Given the description of an element on the screen output the (x, y) to click on. 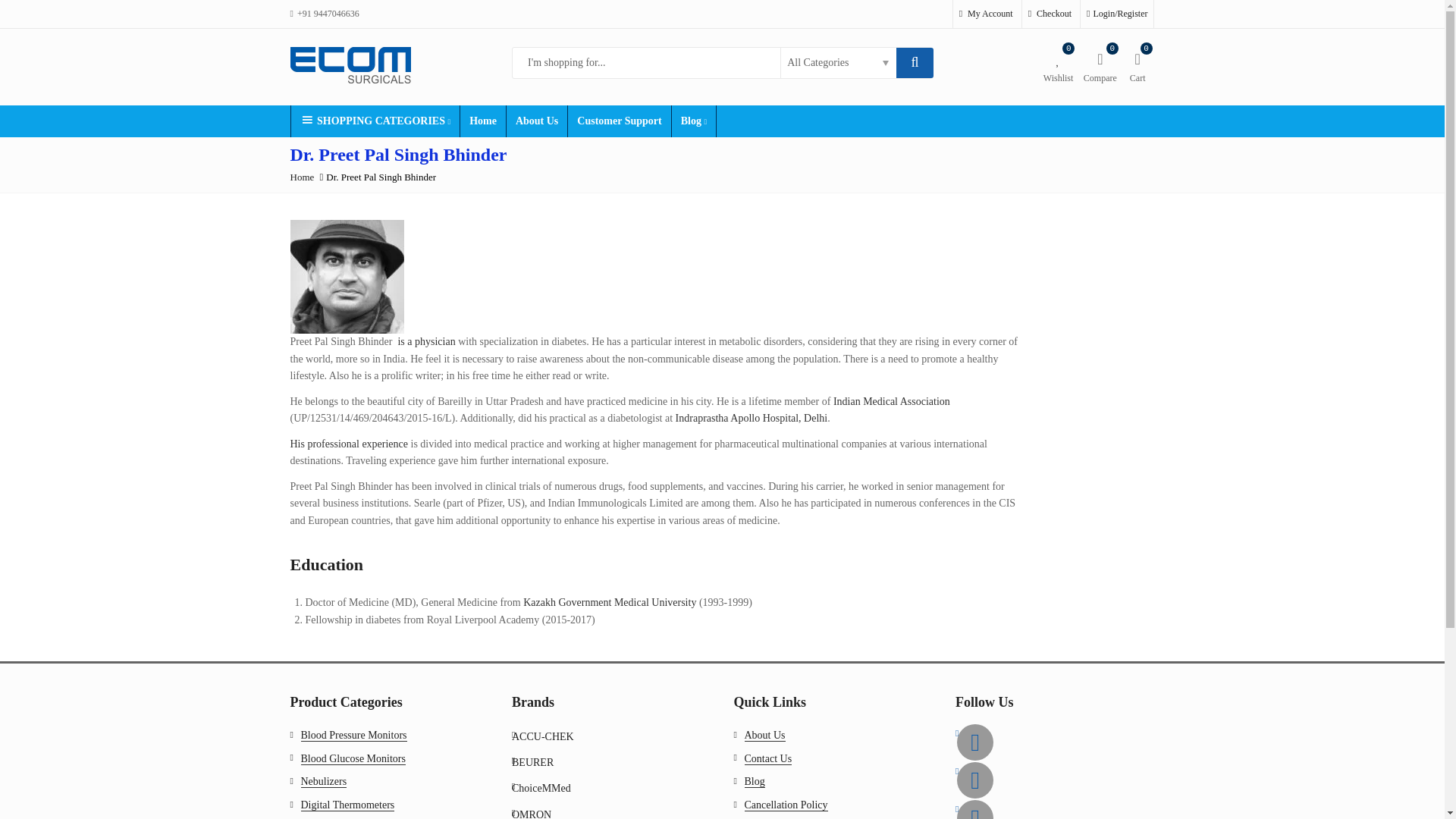
Twitter (974, 780)
yith woocompare (1100, 65)
Facebook (974, 741)
Go to Home Page (301, 176)
Instagram (974, 809)
